Given the description of an element on the screen output the (x, y) to click on. 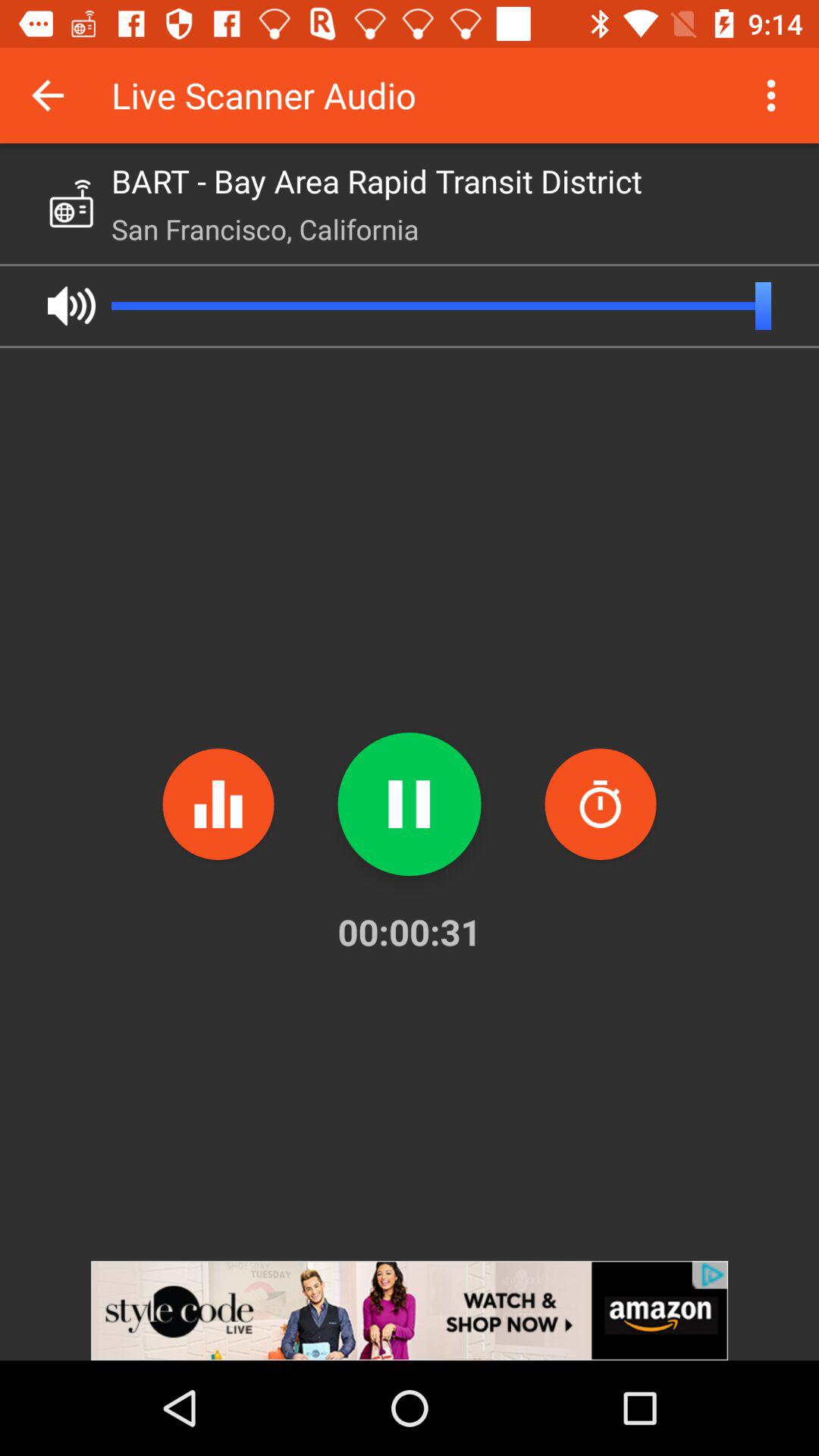
pause the music (409, 803)
